Given the description of an element on the screen output the (x, y) to click on. 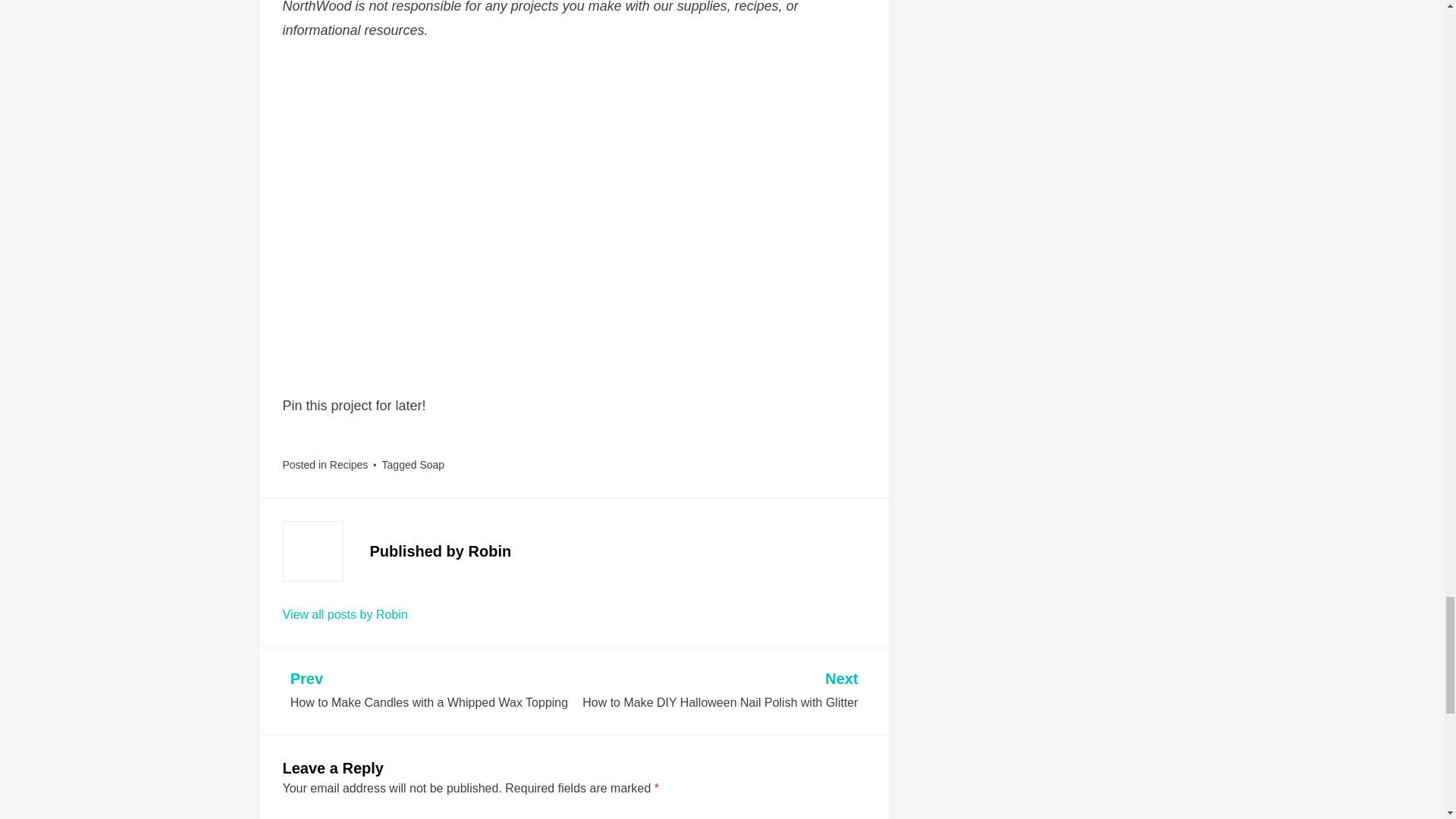
View all posts by Robin (717, 690)
Recipes (344, 614)
Soap (349, 464)
